Given the description of an element on the screen output the (x, y) to click on. 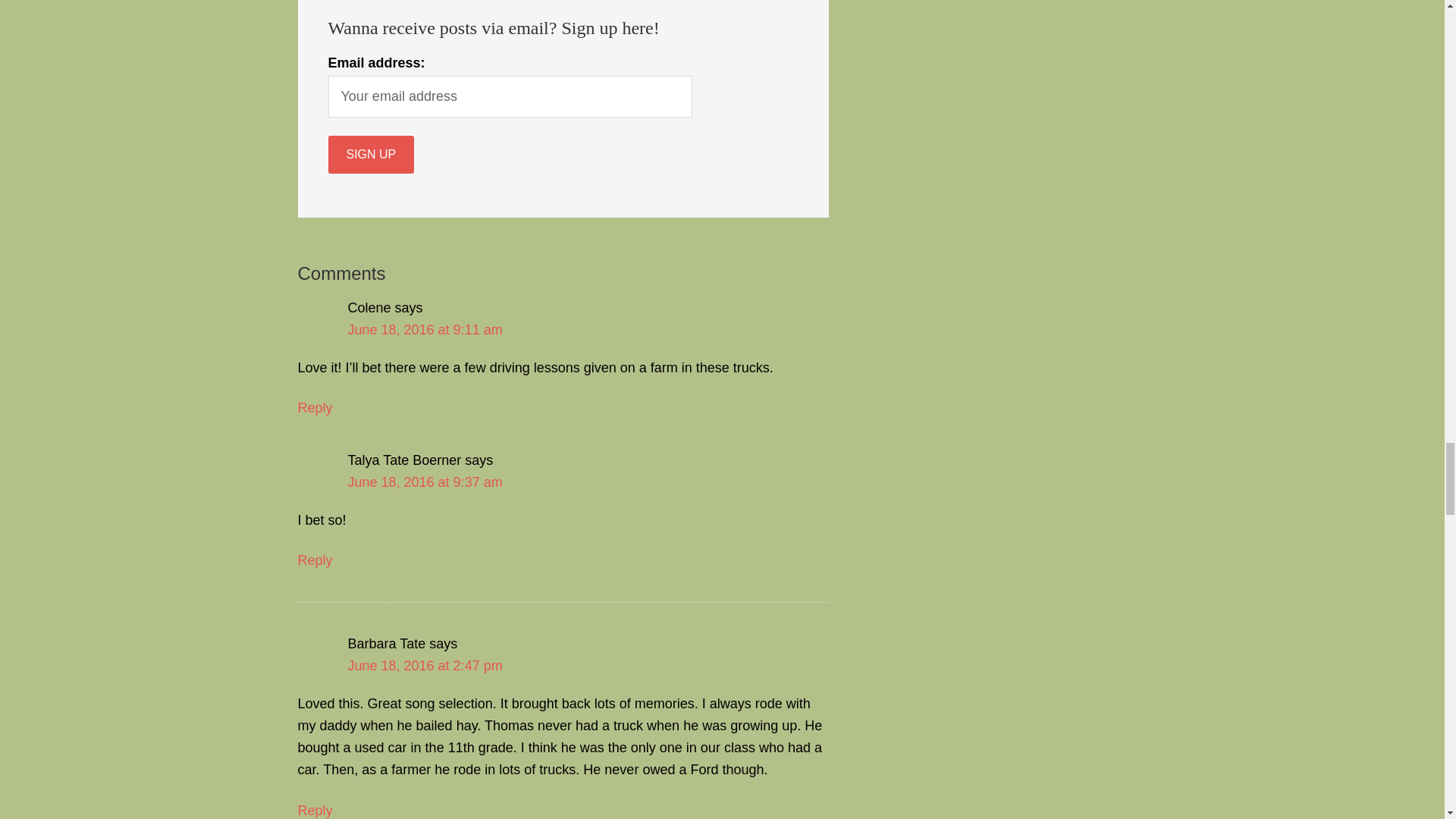
Reply (314, 810)
Reply (314, 407)
Sign up (370, 154)
June 18, 2016 at 2:47 pm (424, 665)
Sign up (370, 154)
Reply (314, 560)
June 18, 2016 at 9:37 am (424, 482)
June 18, 2016 at 9:11 am (424, 329)
